Given the description of an element on the screen output the (x, y) to click on. 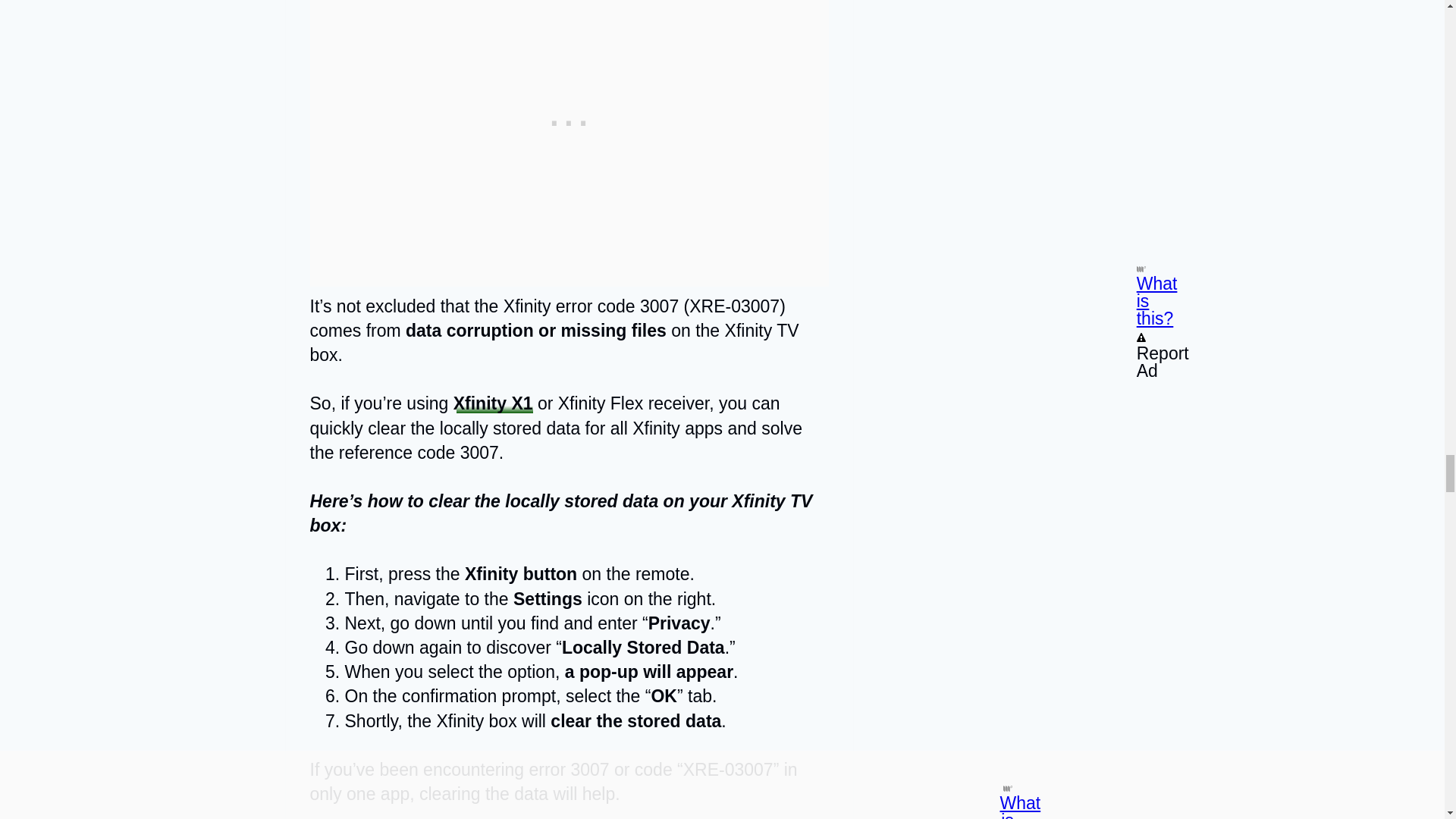
Xfinity X1 (492, 403)
